Given the description of an element on the screen output the (x, y) to click on. 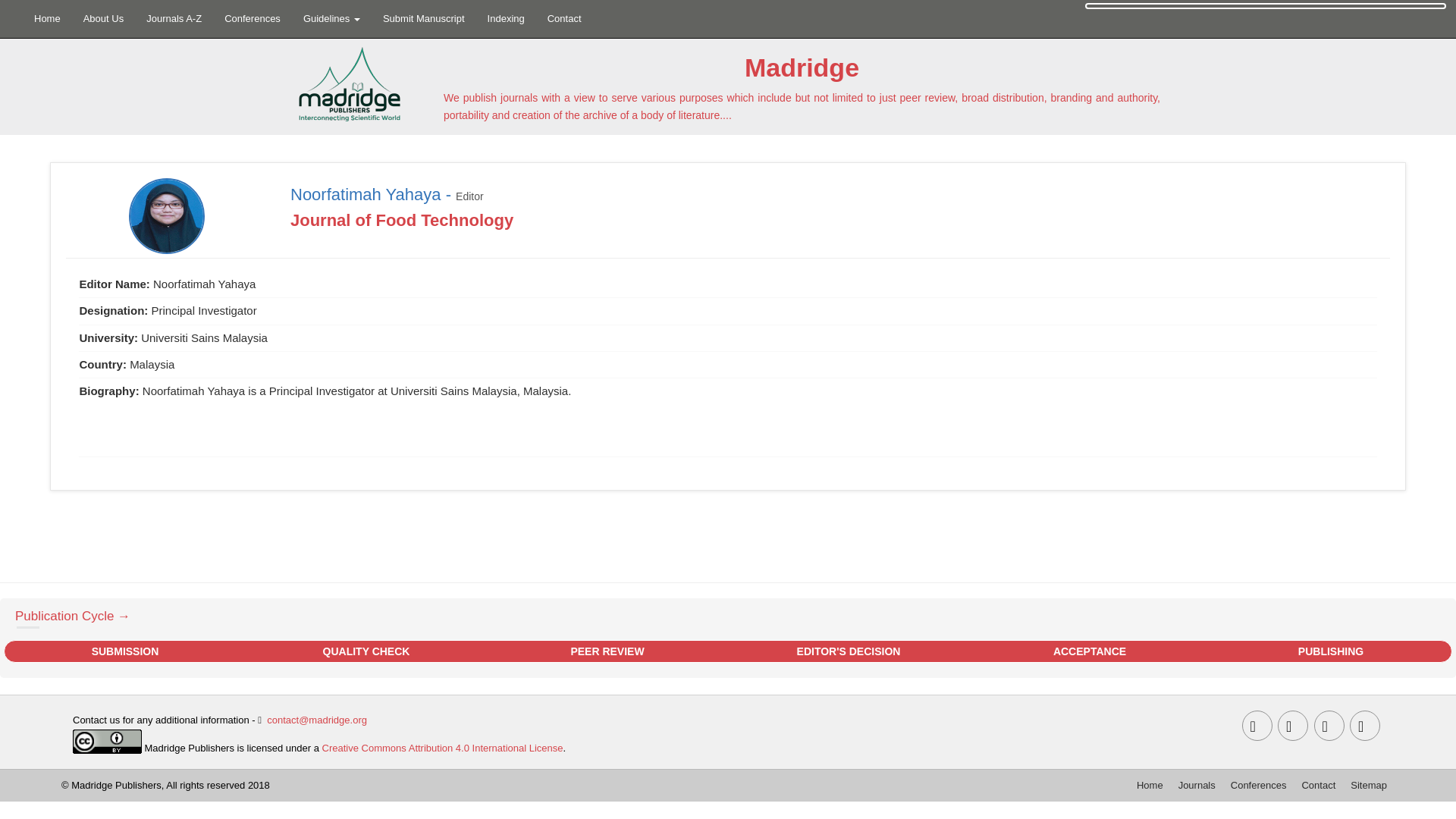
Contact (563, 18)
Creative Commons Attribution 4.0 International License (442, 747)
Home (47, 18)
About Us (103, 18)
Indexing (505, 18)
Editor (469, 196)
Journal of Food Technology (401, 220)
Submit Manuscript (423, 18)
Journals A-Z (173, 18)
Conferences (252, 18)
Guidelines (331, 18)
